Given the description of an element on the screen output the (x, y) to click on. 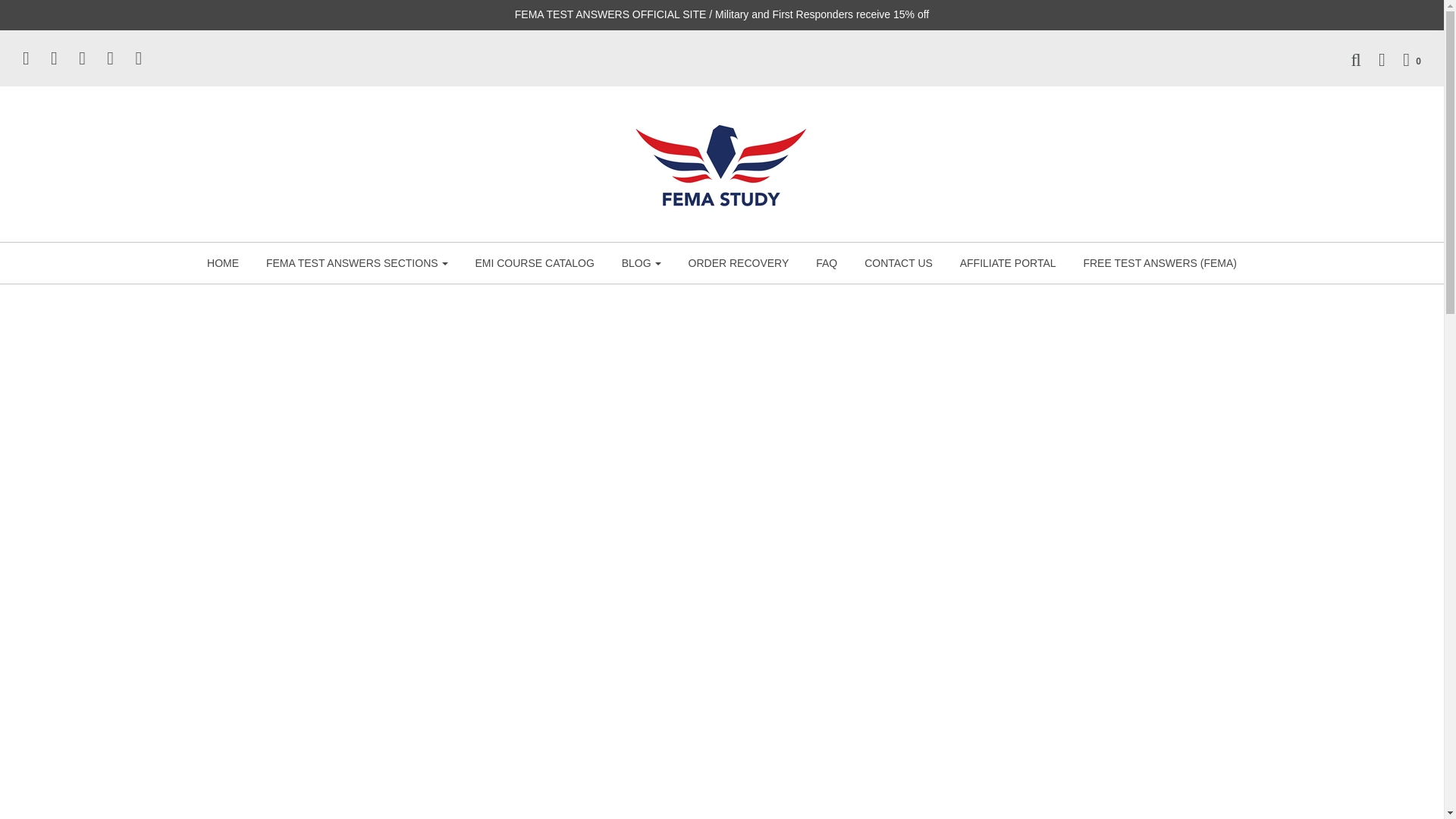
0 (1404, 59)
HOME (222, 263)
Su pedido (1404, 59)
